Given the description of an element on the screen output the (x, y) to click on. 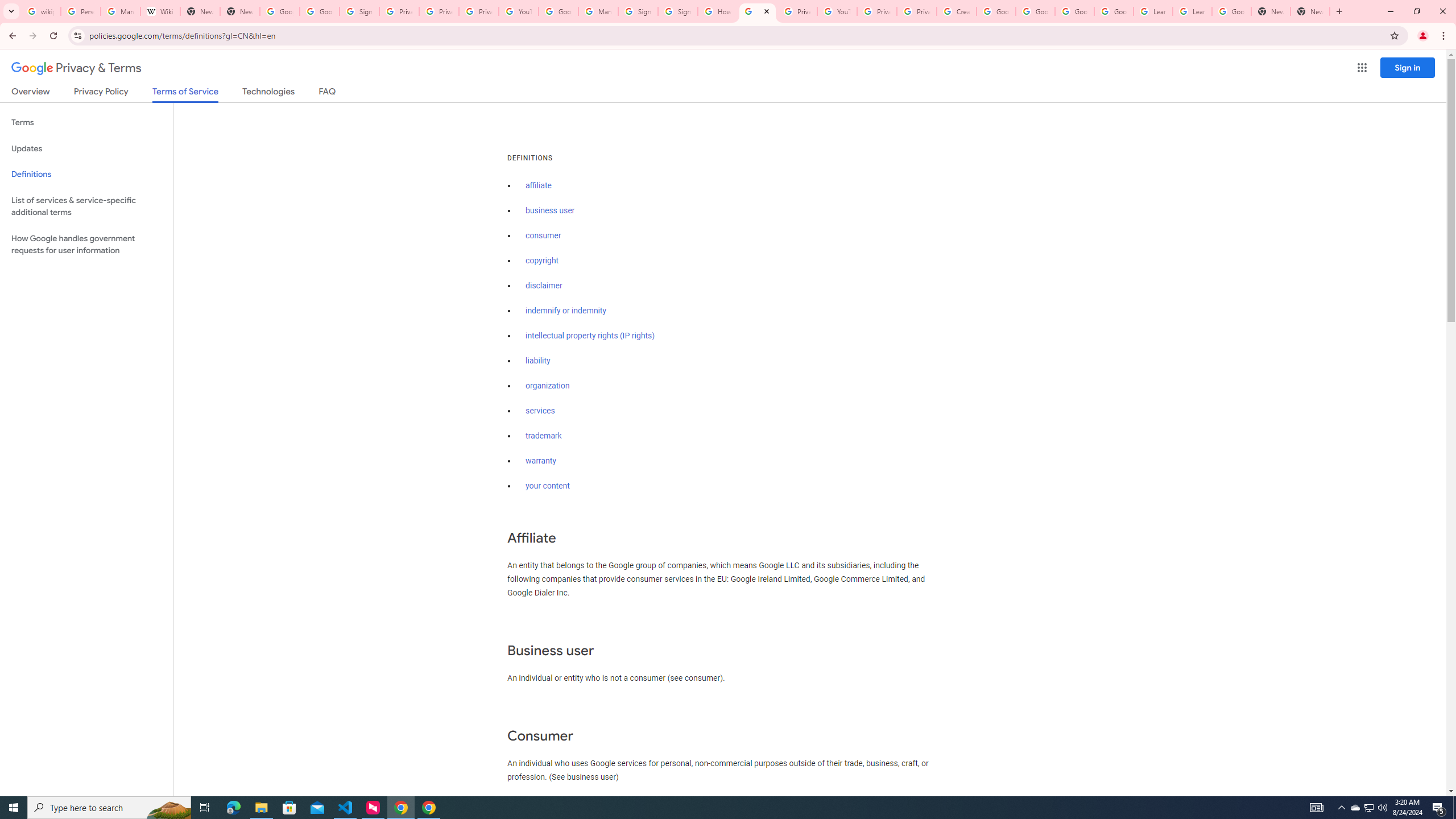
consumer (543, 235)
organization (547, 385)
business user (550, 210)
affiliate (538, 185)
services (539, 411)
Google Account Help (1113, 11)
Personalization & Google Search results - Google Search Help (80, 11)
